Given the description of an element on the screen output the (x, y) to click on. 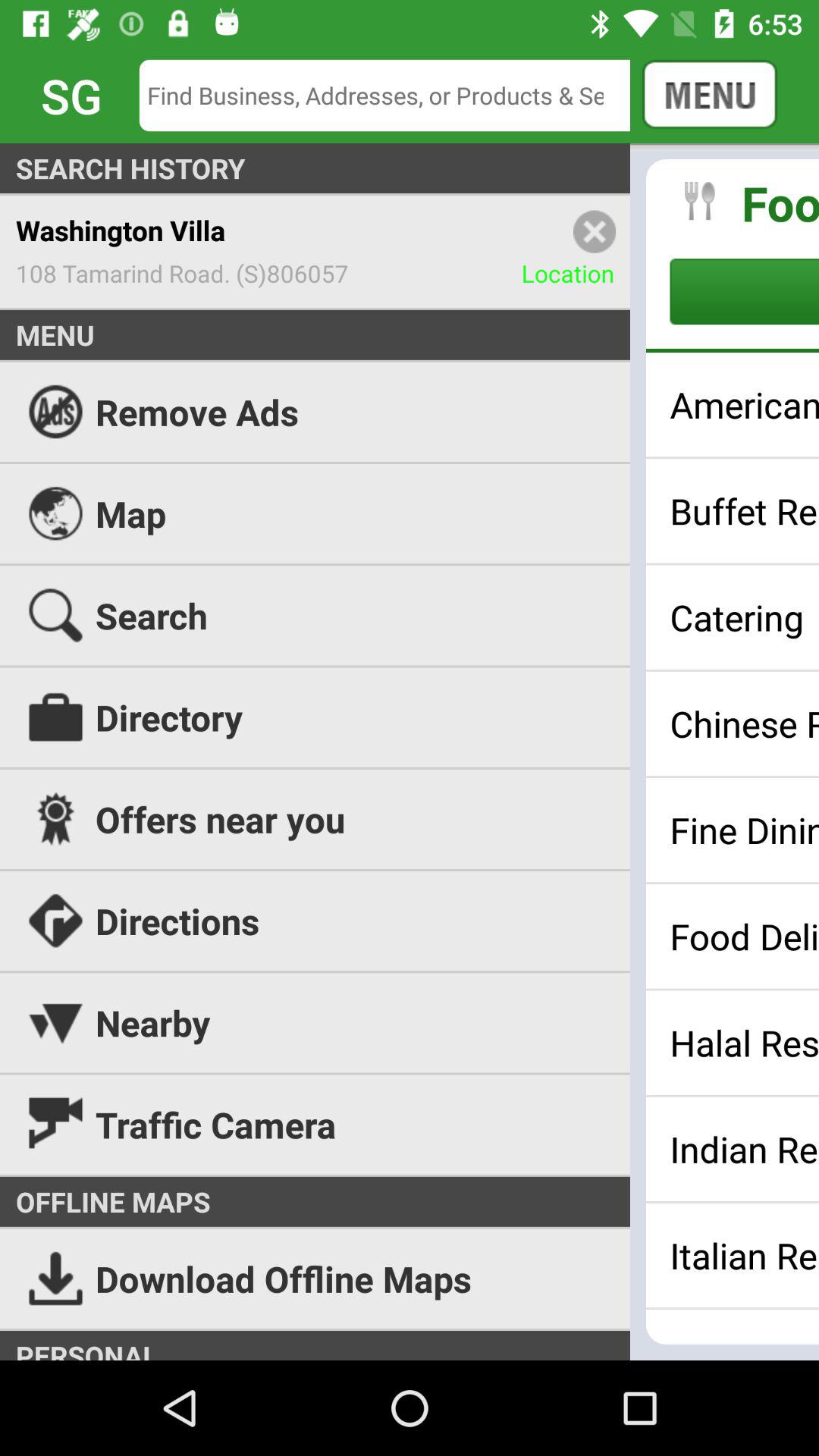
open item above the directory item (744, 617)
